Given the description of an element on the screen output the (x, y) to click on. 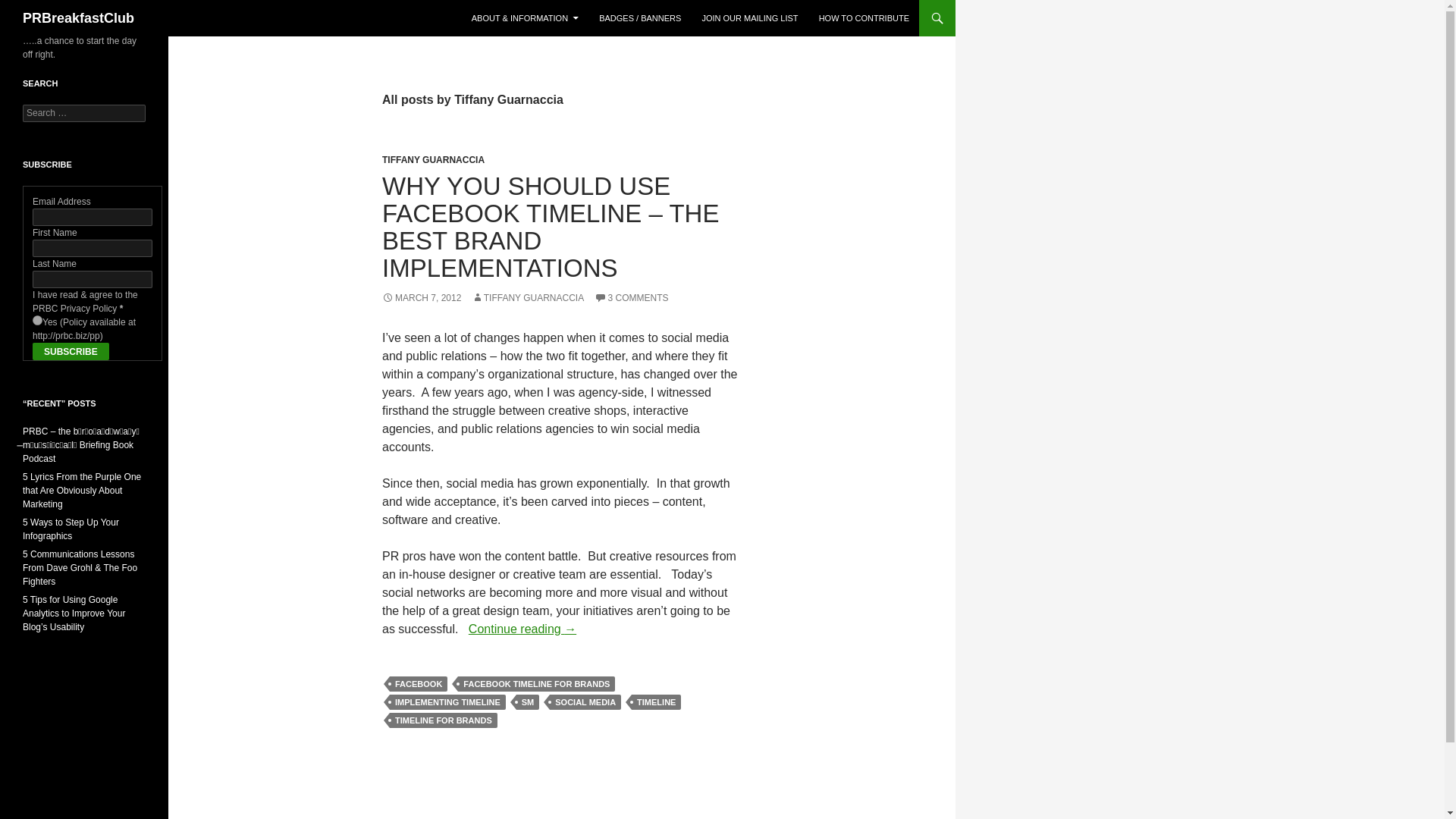
PRBreakfastClub (78, 17)
SOCIAL MEDIA (585, 702)
TIMELINE (656, 702)
5 Ways to Step Up Your Infographics (71, 528)
IMPLEMENTING TIMELINE (447, 702)
FACEBOOK (418, 683)
FACEBOOK TIMELINE FOR BRANDS (536, 683)
HOW TO CONTRIBUTE (863, 18)
TIMELINE FOR BRANDS (443, 720)
